Given the description of an element on the screen output the (x, y) to click on. 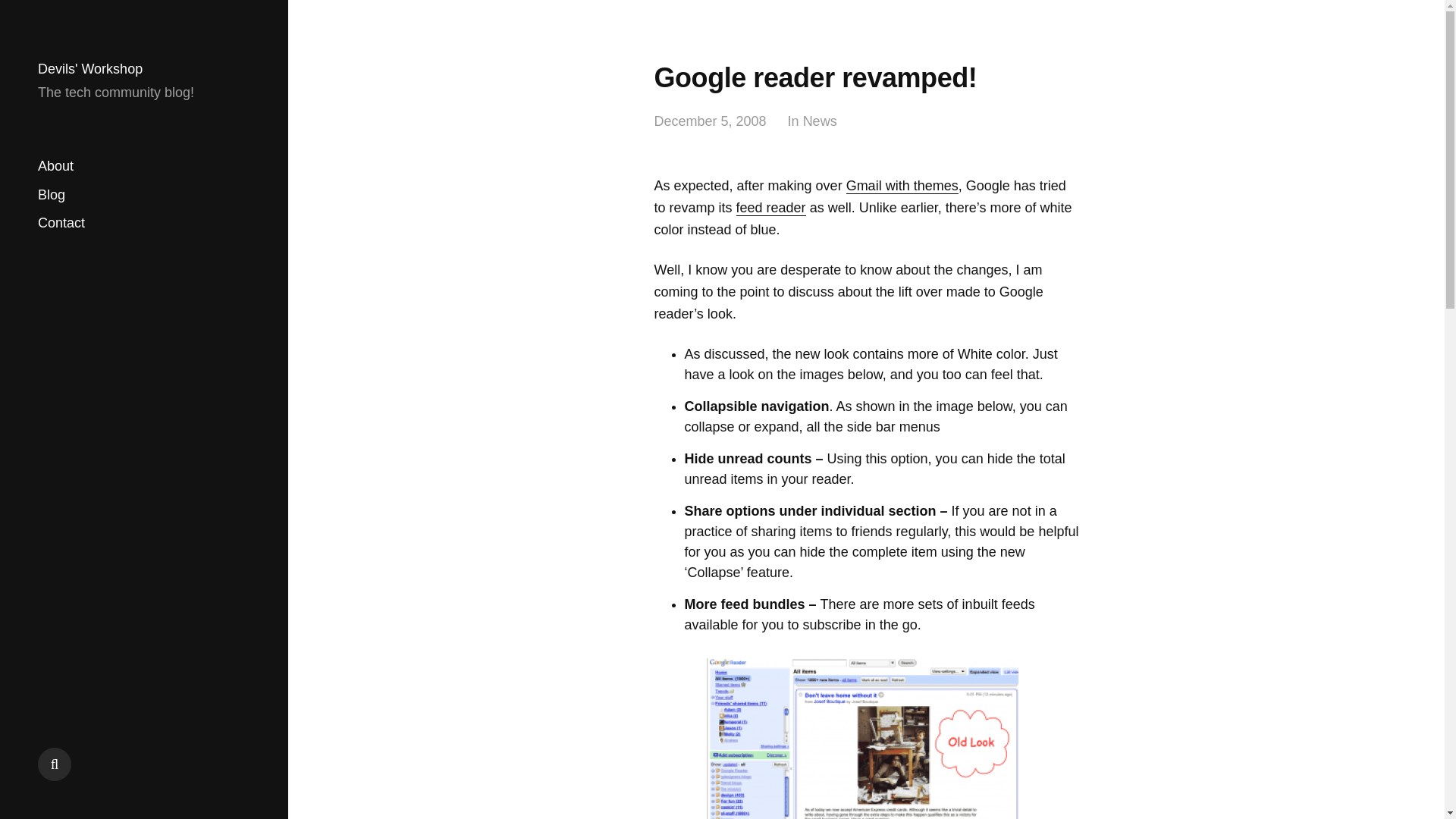
feed reader (771, 207)
About (55, 166)
greader Old look (861, 738)
Contact (60, 222)
Blog (51, 194)
News (820, 121)
Devils' Workshop (89, 68)
December 5, 2008 (709, 121)
Gmail with themes (901, 186)
